Given the description of an element on the screen output the (x, y) to click on. 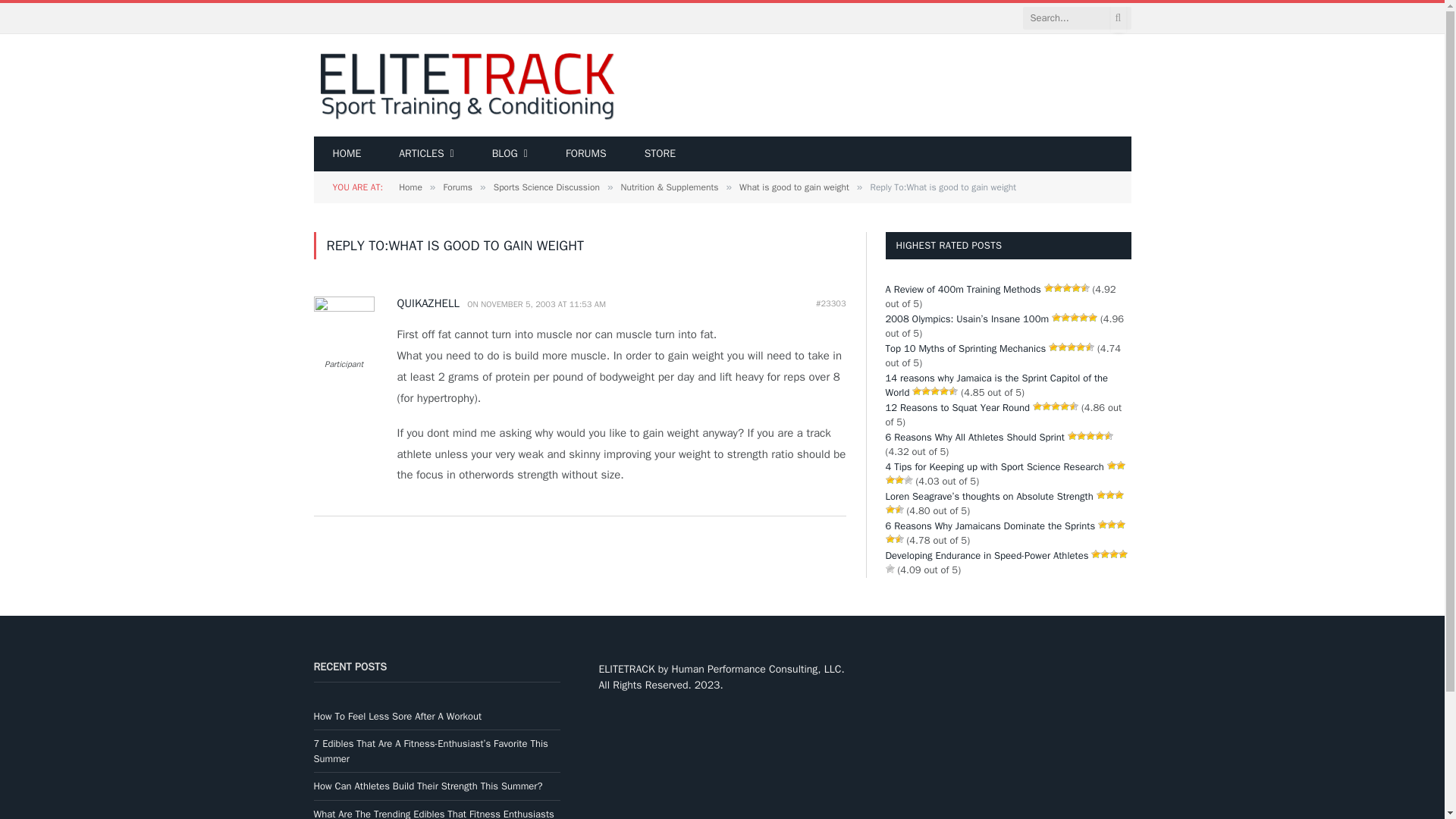
ELITETRACK (465, 85)
67 votes, average: 4.96 out of 5 (1082, 317)
79 votes, average: 4.92 out of 5 (1066, 287)
79 votes, average: 4.92 out of 5 (1075, 287)
67 votes, average: 4.96 out of 5 (1056, 317)
67 votes, average: 4.96 out of 5 (1074, 317)
79 votes, average: 4.92 out of 5 (1057, 287)
A Review of 400m Training Methods (963, 288)
79 votes, average: 4.92 out of 5 (1047, 287)
67 votes, average: 4.96 out of 5 (1065, 317)
79 votes, average: 4.92 out of 5 (1084, 287)
ARTICLES (425, 153)
View QUIKAZHELL's profile (344, 308)
BLOG (510, 153)
View QUIKAZHELL's profile (430, 303)
